Given the description of an element on the screen output the (x, y) to click on. 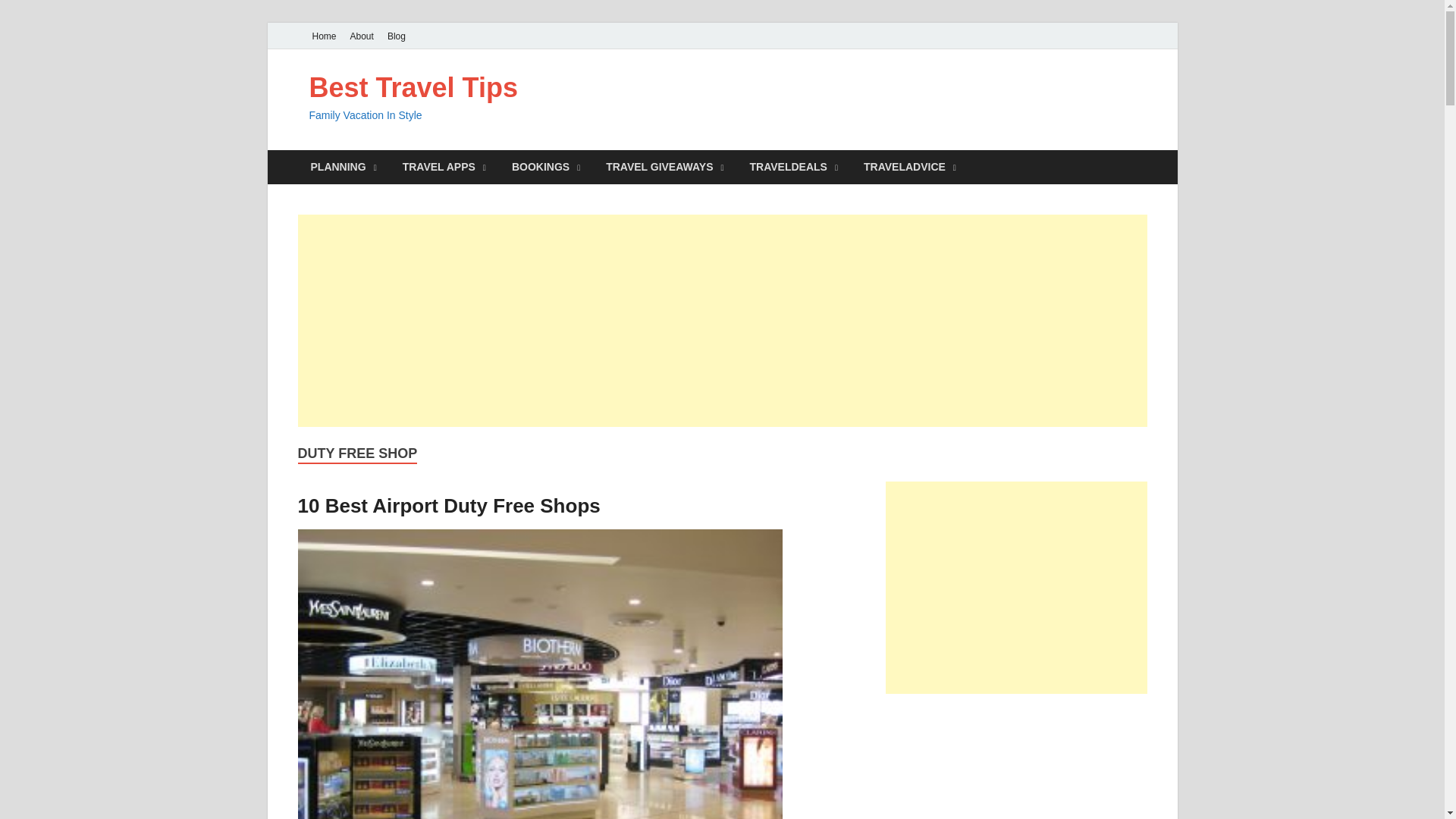
PLANNING (342, 166)
10 Best Airport Duty Free Shops (448, 505)
TRAVELDEALS (793, 166)
TRAVEL APPS (444, 166)
Home (323, 35)
TRAVELADVICE (909, 166)
Best Travel Tips (413, 87)
BOOKINGS (545, 166)
Blog (396, 35)
TRAVEL GIVEAWAYS (664, 166)
